Given the description of an element on the screen output the (x, y) to click on. 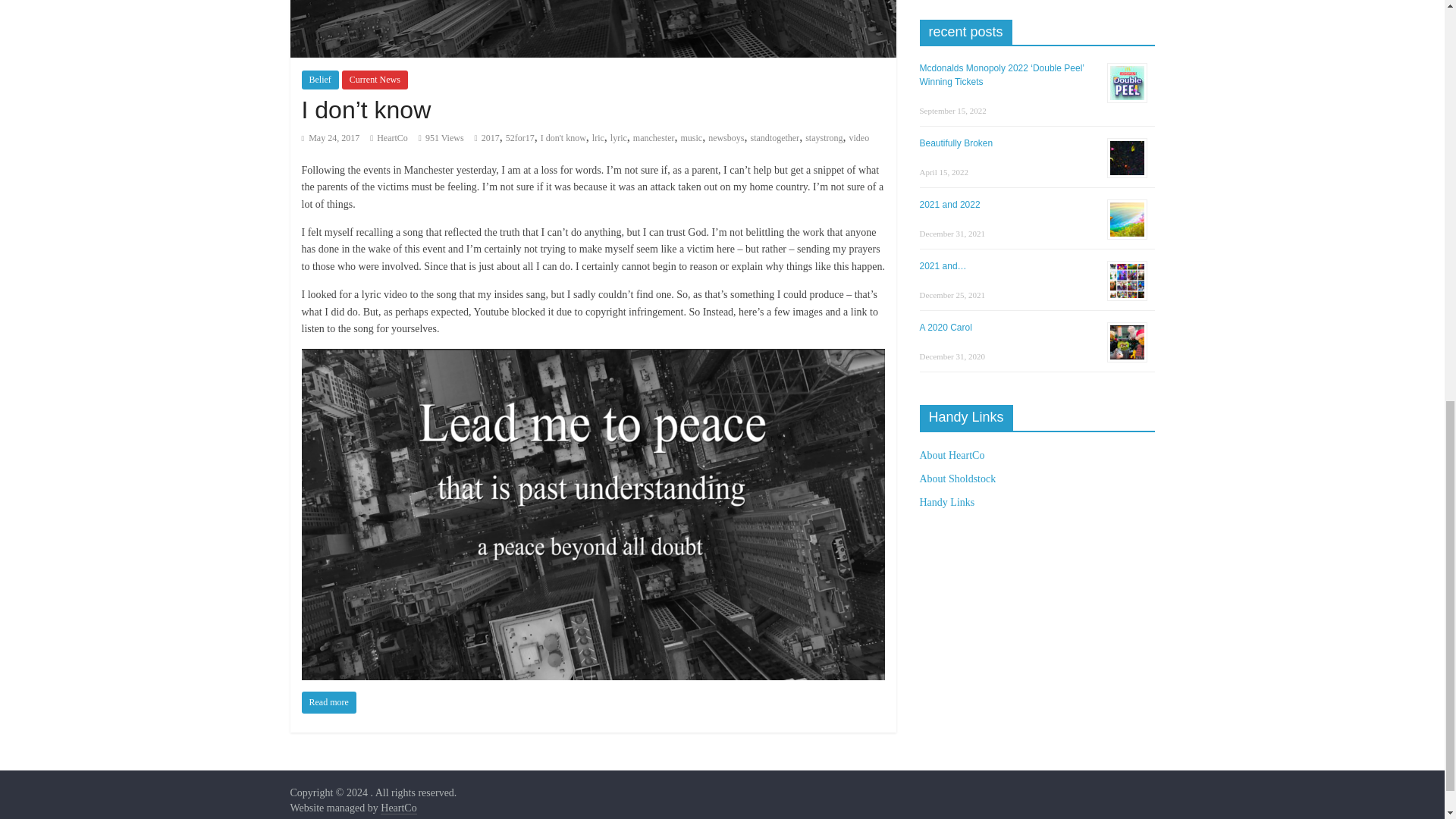
5:08 pm (330, 137)
HeartCo (392, 137)
